Given the description of an element on the screen output the (x, y) to click on. 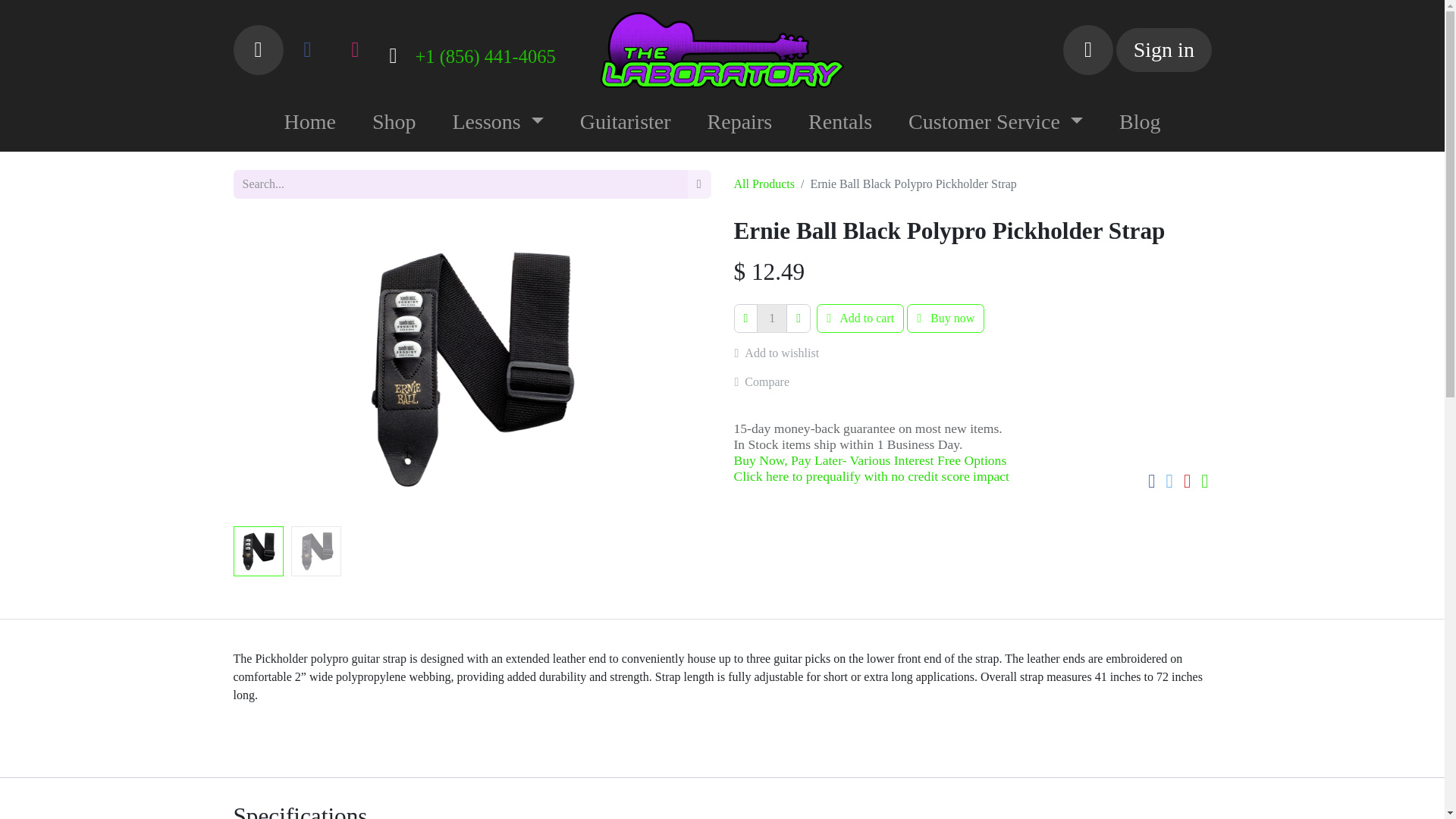
Rentals (839, 121)
The Laboratory (721, 49)
1 (772, 317)
Lessons (496, 121)
Search (257, 50)
Shop (393, 121)
Customer Service (994, 121)
Home (308, 121)
Guitarister (625, 121)
Sign in (1163, 49)
